Given the description of an element on the screen output the (x, y) to click on. 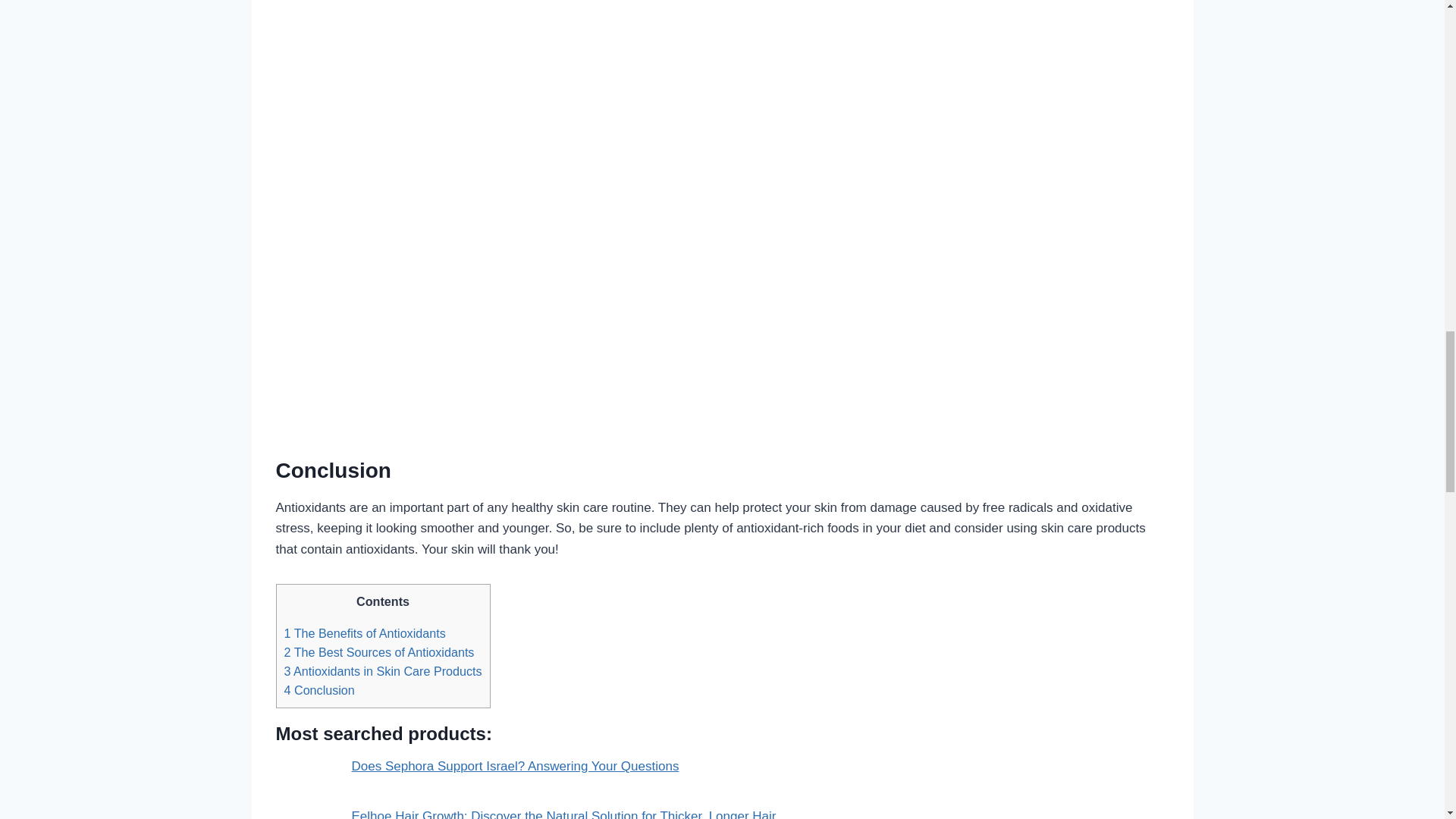
1 The Benefits of Antioxidants (364, 632)
2 The Best Sources of Antioxidants (378, 652)
4 Conclusion (318, 689)
3 Antioxidants in Skin Care Products (382, 671)
Does Sephora Support Israel? Answering Your Questions (515, 766)
